Given the description of an element on the screen output the (x, y) to click on. 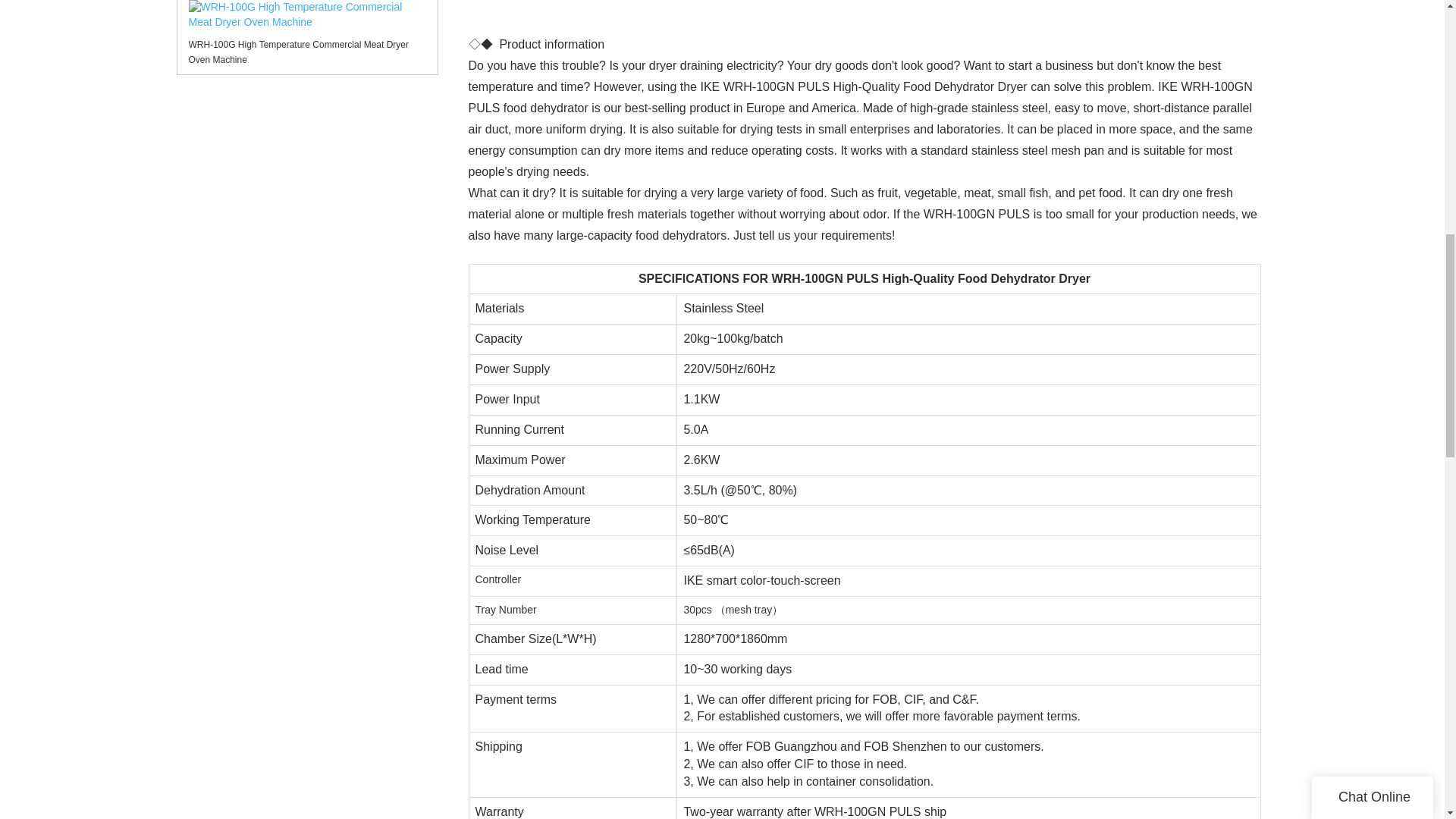
YouTube video player (864, 14)
